Given the description of an element on the screen output the (x, y) to click on. 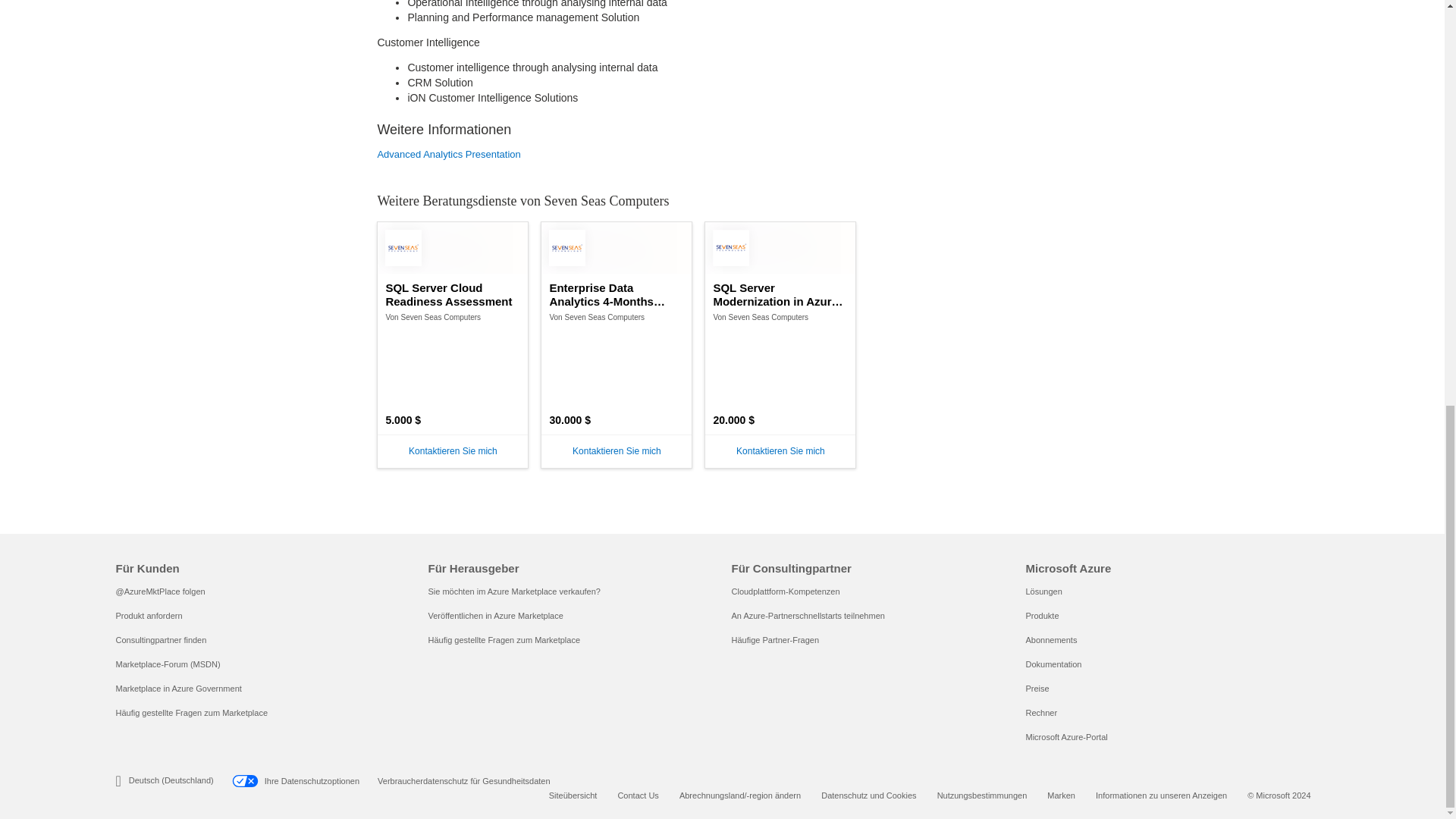
SQL Server Modernization in Azure -2 Months Implem (780, 294)
Enterprise Data Analytics 4-Months Implementation (616, 294)
SQL Server Cloud Readiness Assessment (452, 294)
